Given the description of an element on the screen output the (x, y) to click on. 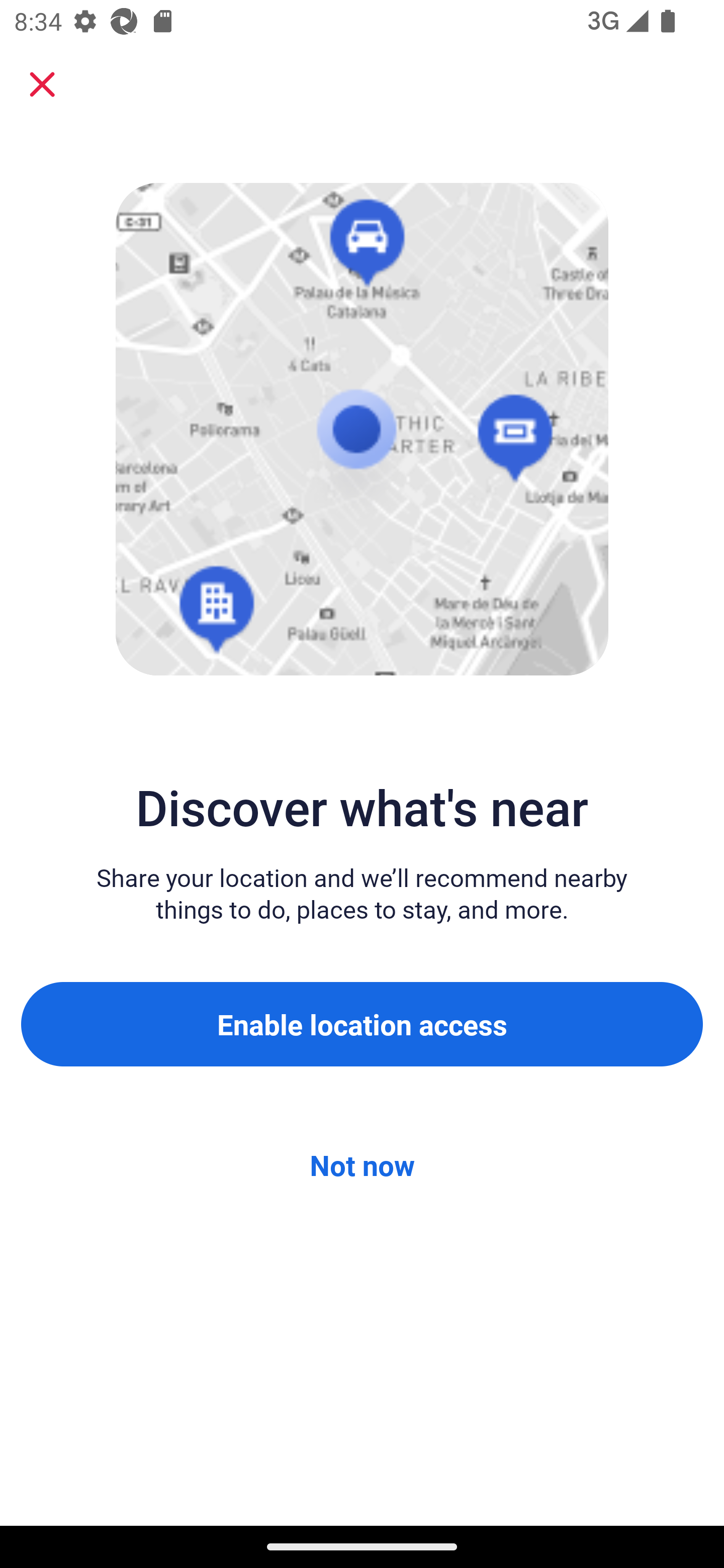
Close sheet (42, 84)
Enable location access (361, 1023)
Not now (362, 1164)
